Given the description of an element on the screen output the (x, y) to click on. 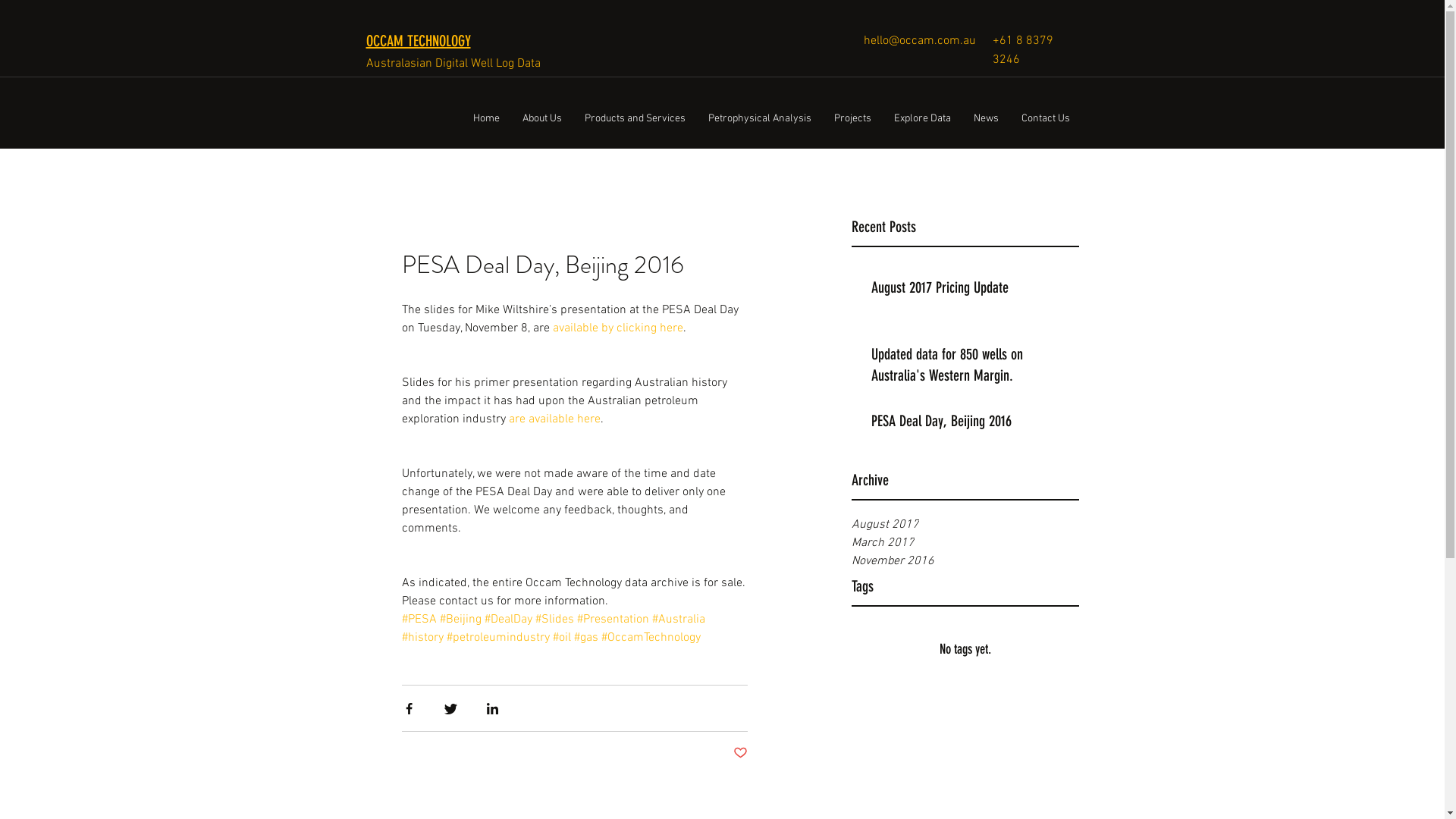
Products and Services Element type: text (634, 118)
#history Element type: text (422, 637)
are available here Element type: text (553, 418)
#Australia Element type: text (678, 619)
About Us Element type: text (542, 118)
#Presentation Element type: text (612, 619)
August 2017 Pricing Update Element type: text (969, 290)
News Element type: text (985, 118)
available by clicking here Element type: text (617, 327)
#DealDay Element type: text (507, 619)
#OccamTechnology Element type: text (649, 637)
#PESA Element type: text (418, 619)
Petrophysical Analysis Element type: text (759, 118)
#Slides Element type: text (554, 619)
August 2017 Element type: text (964, 524)
#oil Element type: text (561, 637)
OCCAM TECHNOLOGY Element type: text (417, 40)
hello@occam.com.au Element type: text (918, 40)
Contact Us Element type: text (1045, 118)
Home Element type: text (485, 118)
Updated data for 850 wells on Australia's Western Margin. Element type: text (969, 367)
Post not marked as liked Element type: text (739, 753)
March 2017 Element type: text (964, 542)
Projects Element type: text (851, 118)
November 2016 Element type: text (964, 561)
#Beijing Element type: text (460, 619)
#petroleumindustry Element type: text (497, 637)
PESA Deal Day, Beijing 2016 Element type: text (969, 423)
#gas Element type: text (585, 637)
Explore Data Element type: text (922, 118)
